Given the description of an element on the screen output the (x, y) to click on. 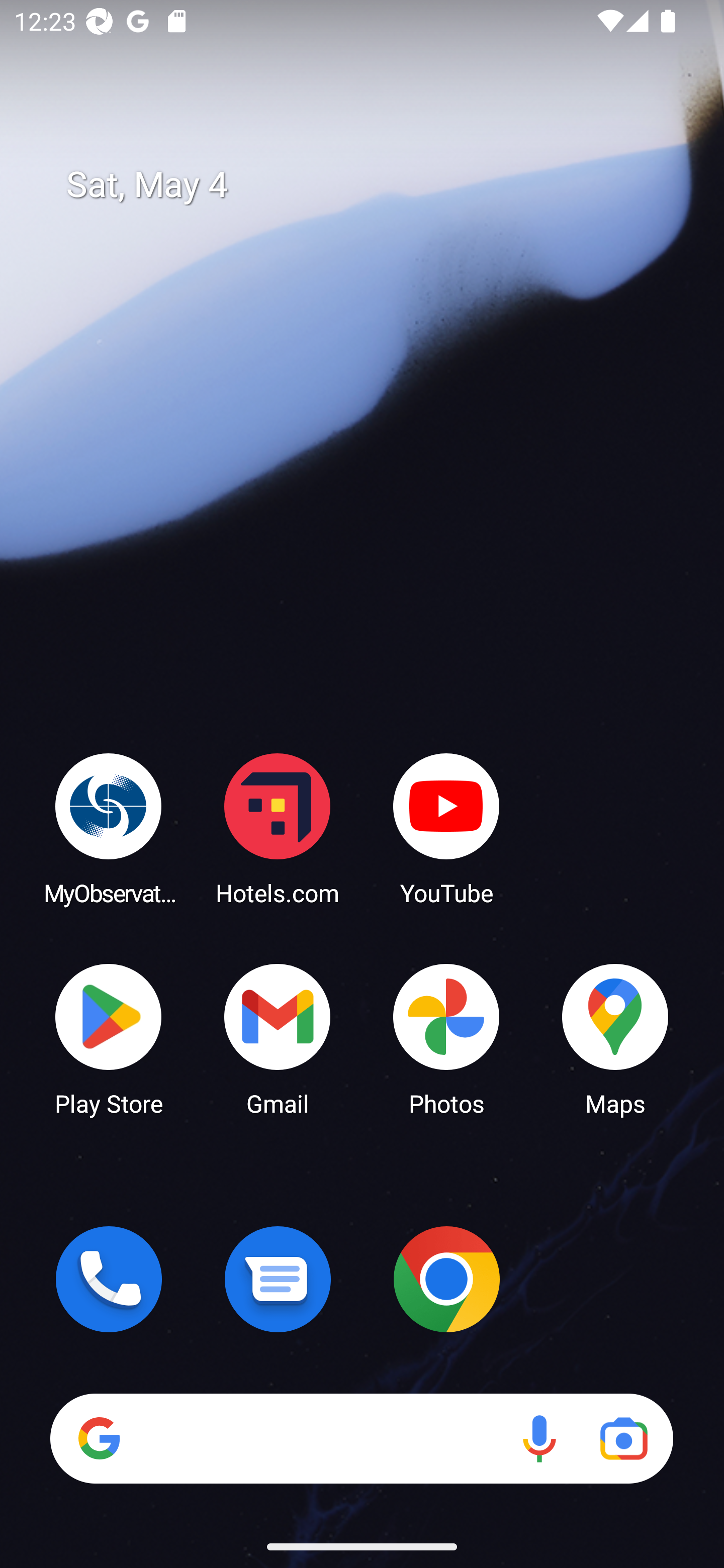
Sat, May 4 (375, 184)
MyObservatory (108, 828)
Hotels.com (277, 828)
YouTube (445, 828)
Play Store (108, 1038)
Gmail (277, 1038)
Photos (445, 1038)
Maps (615, 1038)
Phone (108, 1279)
Messages (277, 1279)
Chrome (446, 1279)
Search Voice search Google Lens (361, 1438)
Voice search (539, 1438)
Google Lens (623, 1438)
